Given the description of an element on the screen output the (x, y) to click on. 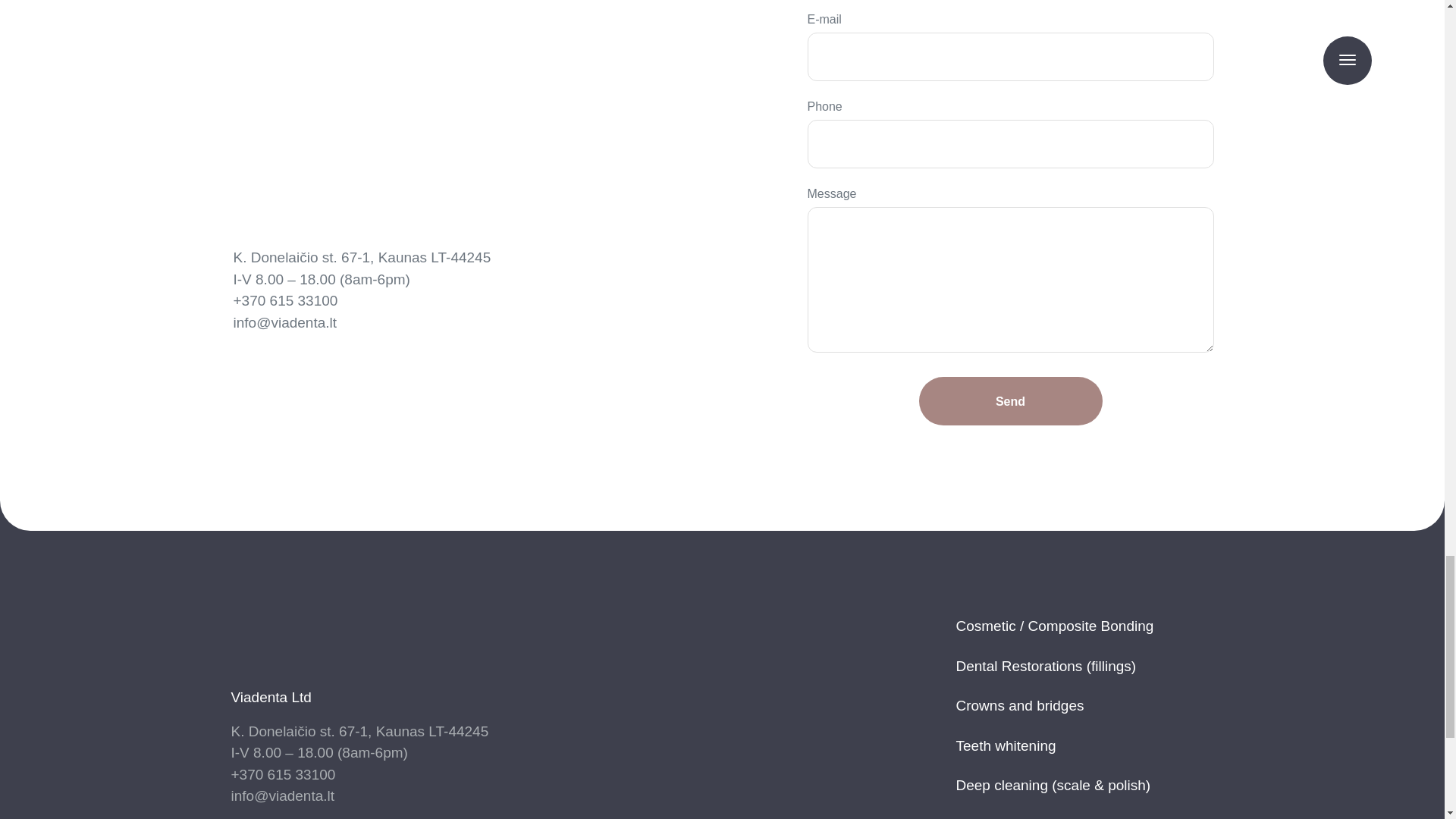
Send (1010, 400)
Teeth whitening (1005, 746)
Crowns and bridges (1019, 705)
Send (1010, 400)
